Given the description of an element on the screen output the (x, y) to click on. 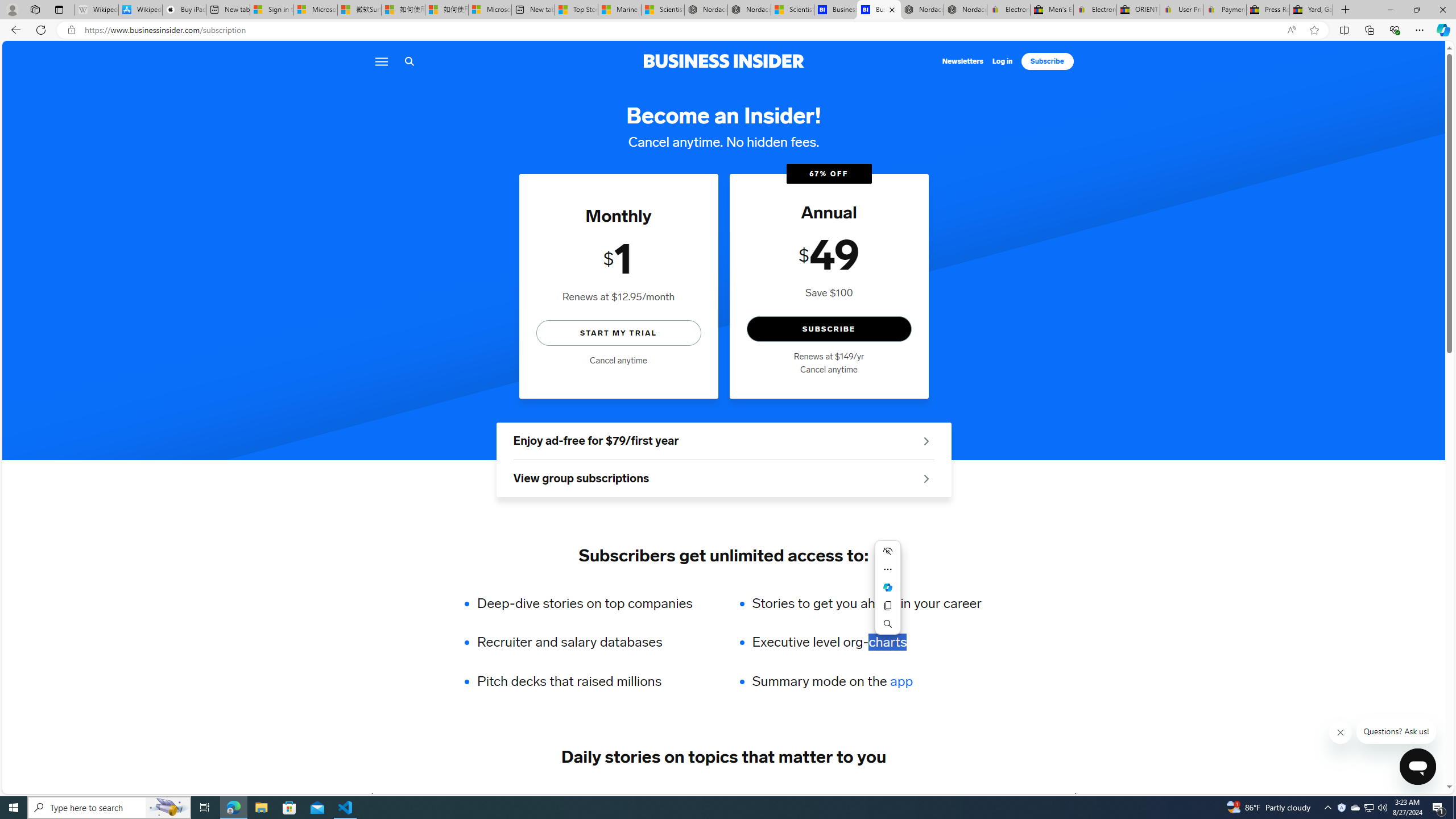
Payments Terms of Use | eBay.com (1224, 9)
Summary mode on the app (866, 681)
User Privacy Notice | eBay (1181, 9)
MEDIA (1075, 796)
Menu icon (380, 61)
More actions (887, 569)
HEALTHCARE (802, 796)
Yard, Garden & Outdoor Living (1311, 9)
Top Stories - MSN (576, 9)
